Given the description of an element on the screen output the (x, y) to click on. 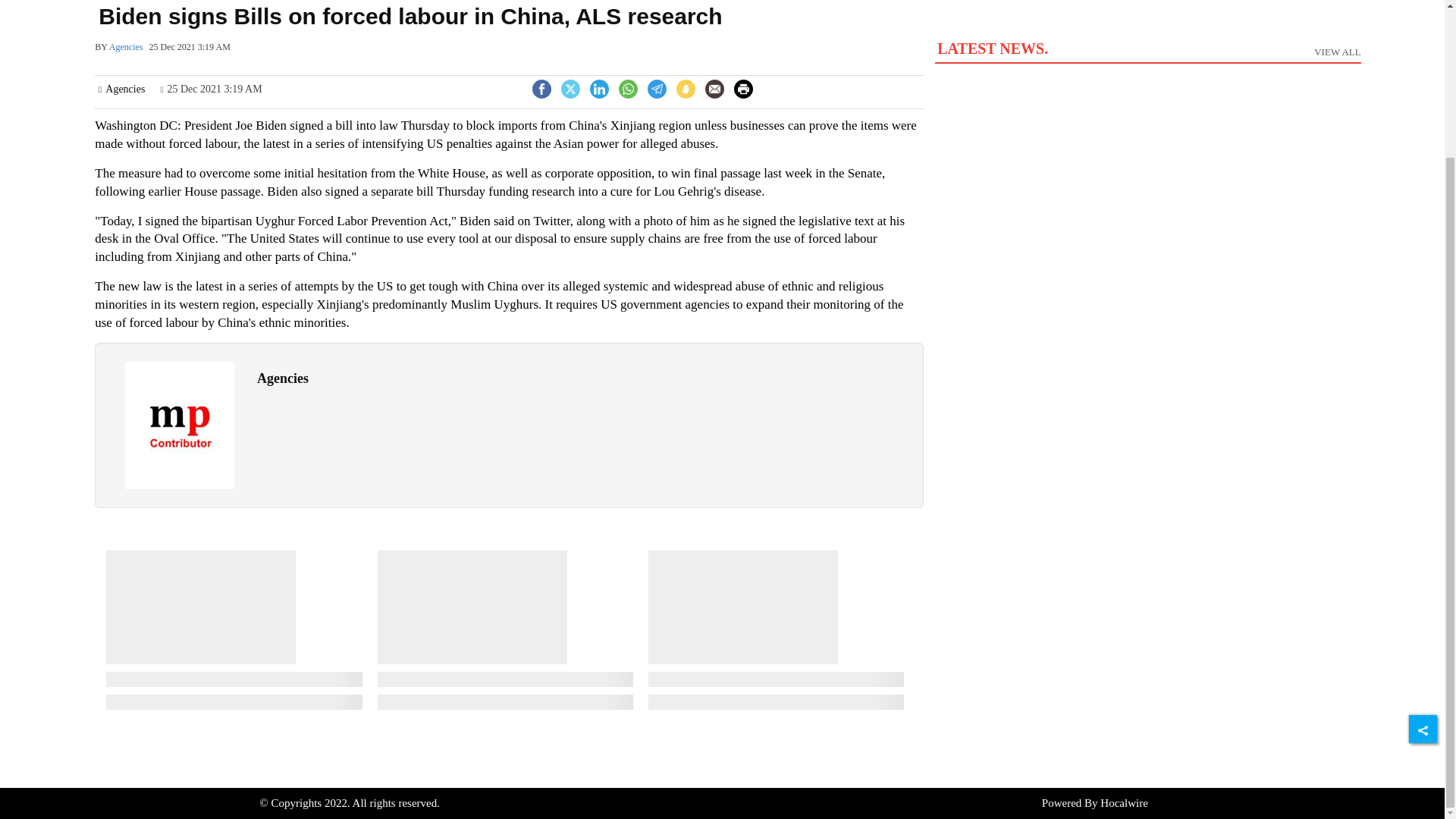
whatsapp (628, 89)
Facebook (541, 87)
facebook (541, 89)
linkedin (599, 89)
Print (742, 87)
twitter (570, 89)
print (743, 89)
Twitter (569, 87)
Email (1146, 43)
